Given the description of an element on the screen output the (x, y) to click on. 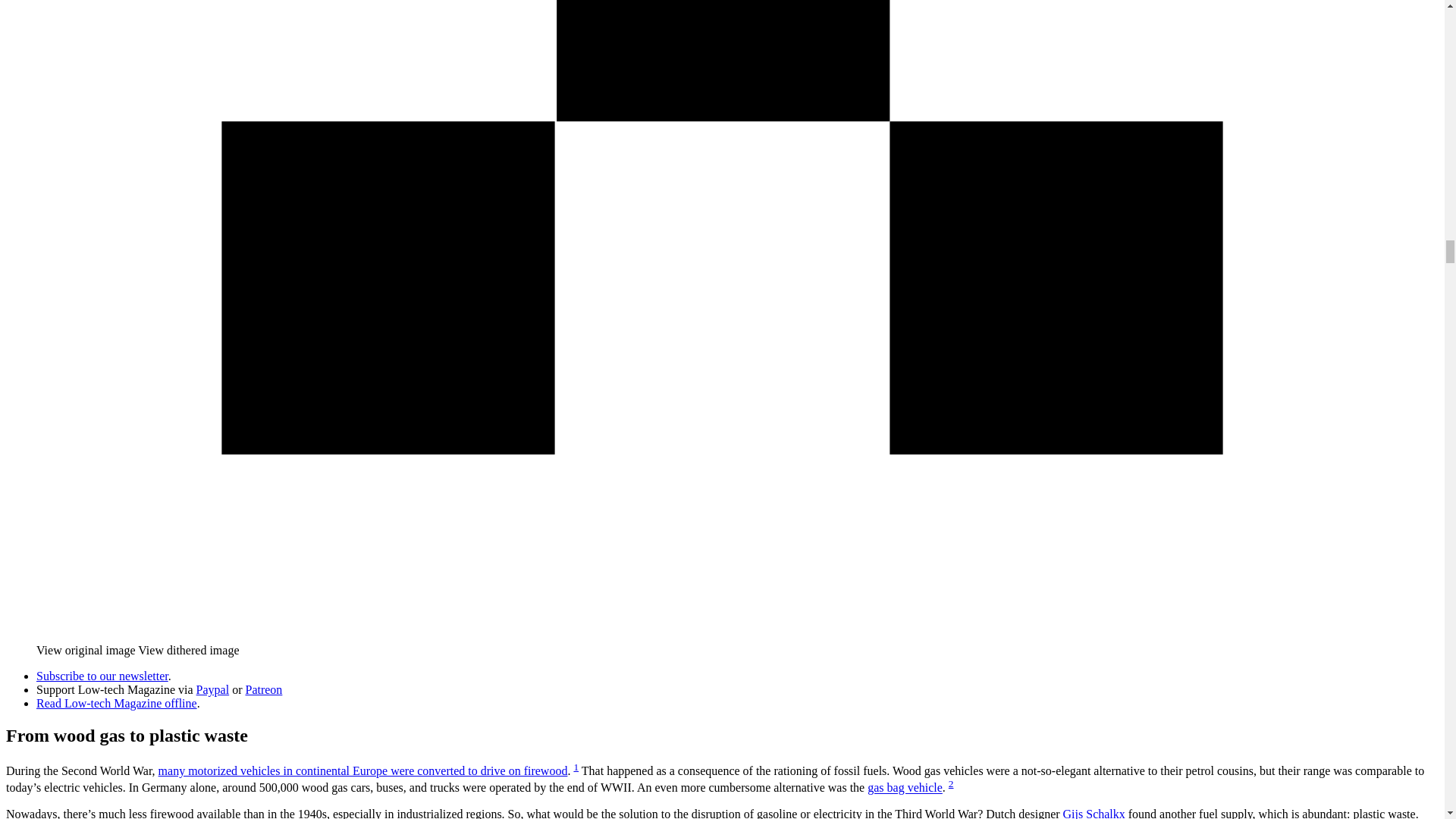
Patreon (263, 689)
gas bag vehicle (904, 788)
Subscribe to our newsletter (102, 675)
Paypal (213, 689)
Gijs Schalkx (1093, 813)
Read Low-tech Magazine offline (116, 703)
